Given the description of an element on the screen output the (x, y) to click on. 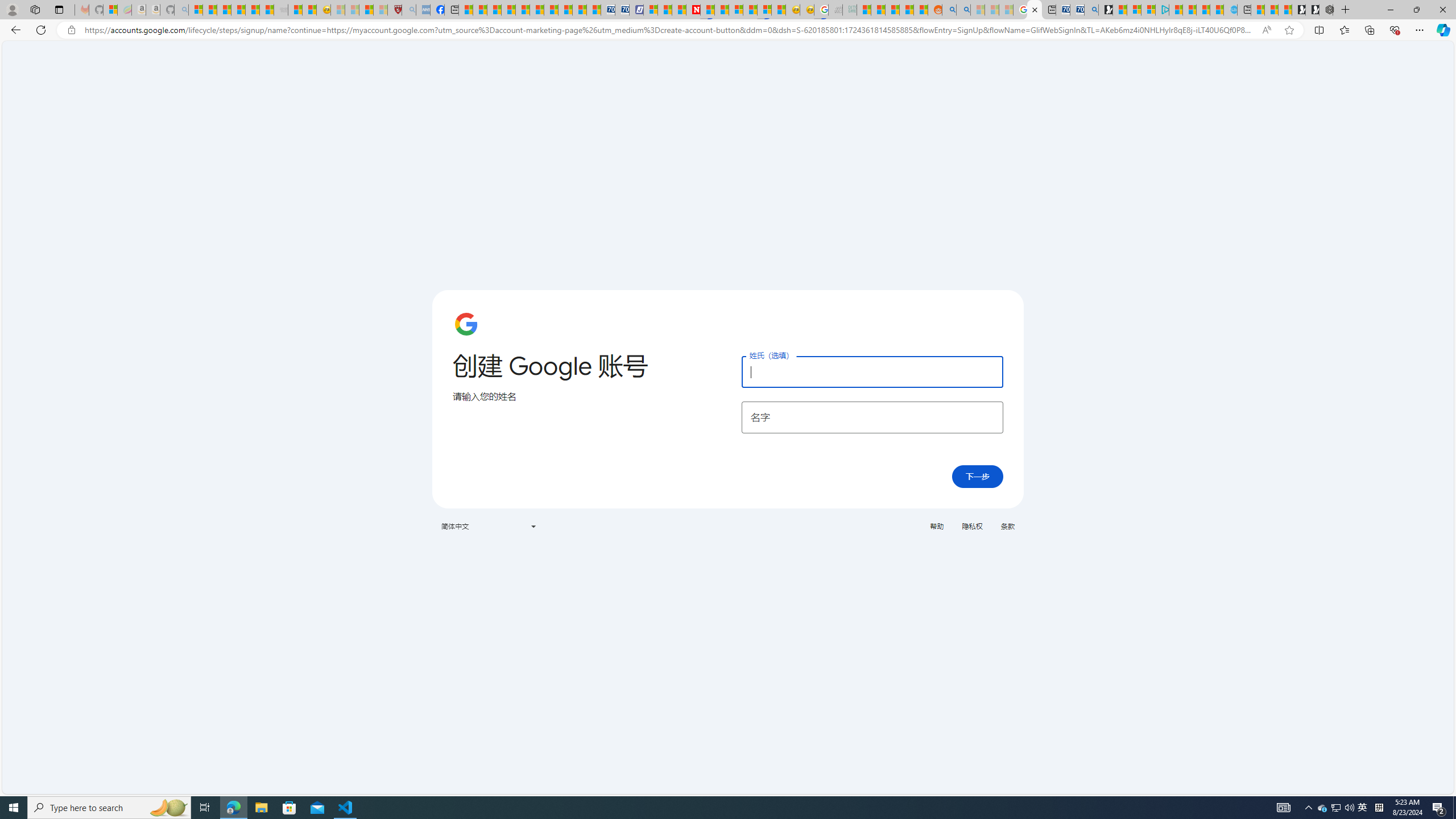
Class: VfPpkd-t08AT-Bz112c-Bd00G (532, 526)
